Given the description of an element on the screen output the (x, y) to click on. 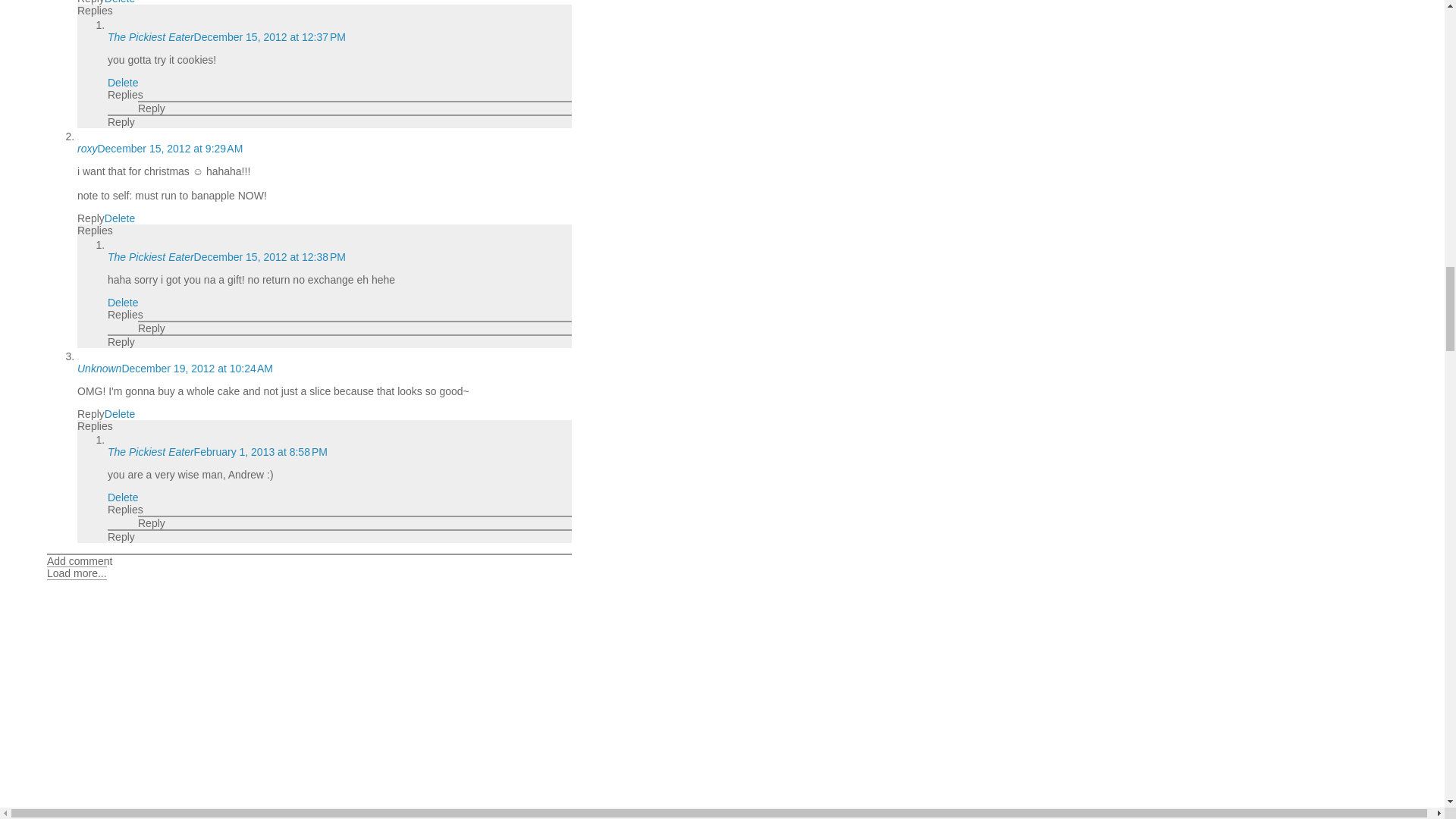
Reply (90, 218)
Replies (95, 230)
Replies (124, 94)
Reply (90, 2)
The Pickiest Eater (150, 37)
Reply (151, 108)
Delete (119, 2)
Reply (121, 121)
Delete (119, 218)
Delete (122, 82)
Replies (95, 10)
roxy (87, 148)
